Given the description of an element on the screen output the (x, y) to click on. 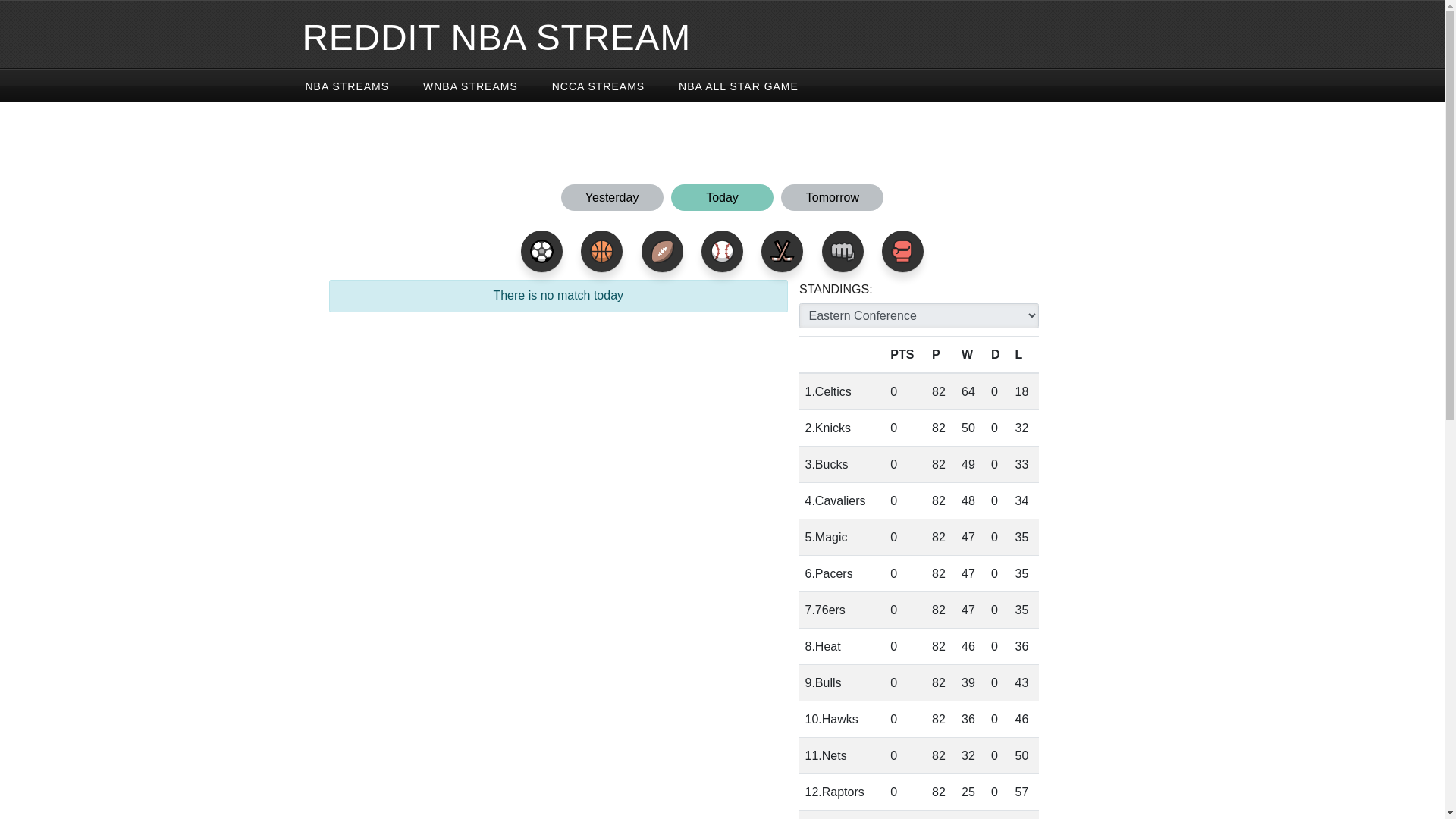
Today (723, 207)
NHL Streams (782, 250)
MMA Streams (842, 250)
NFL Streams (662, 250)
NBA Streams (601, 250)
Boxing Streams (902, 250)
Yesterday (613, 207)
Tomorrow (831, 207)
MLB Streams (721, 250)
NBA ALL STAR GAME (738, 84)
